Given the description of an element on the screen output the (x, y) to click on. 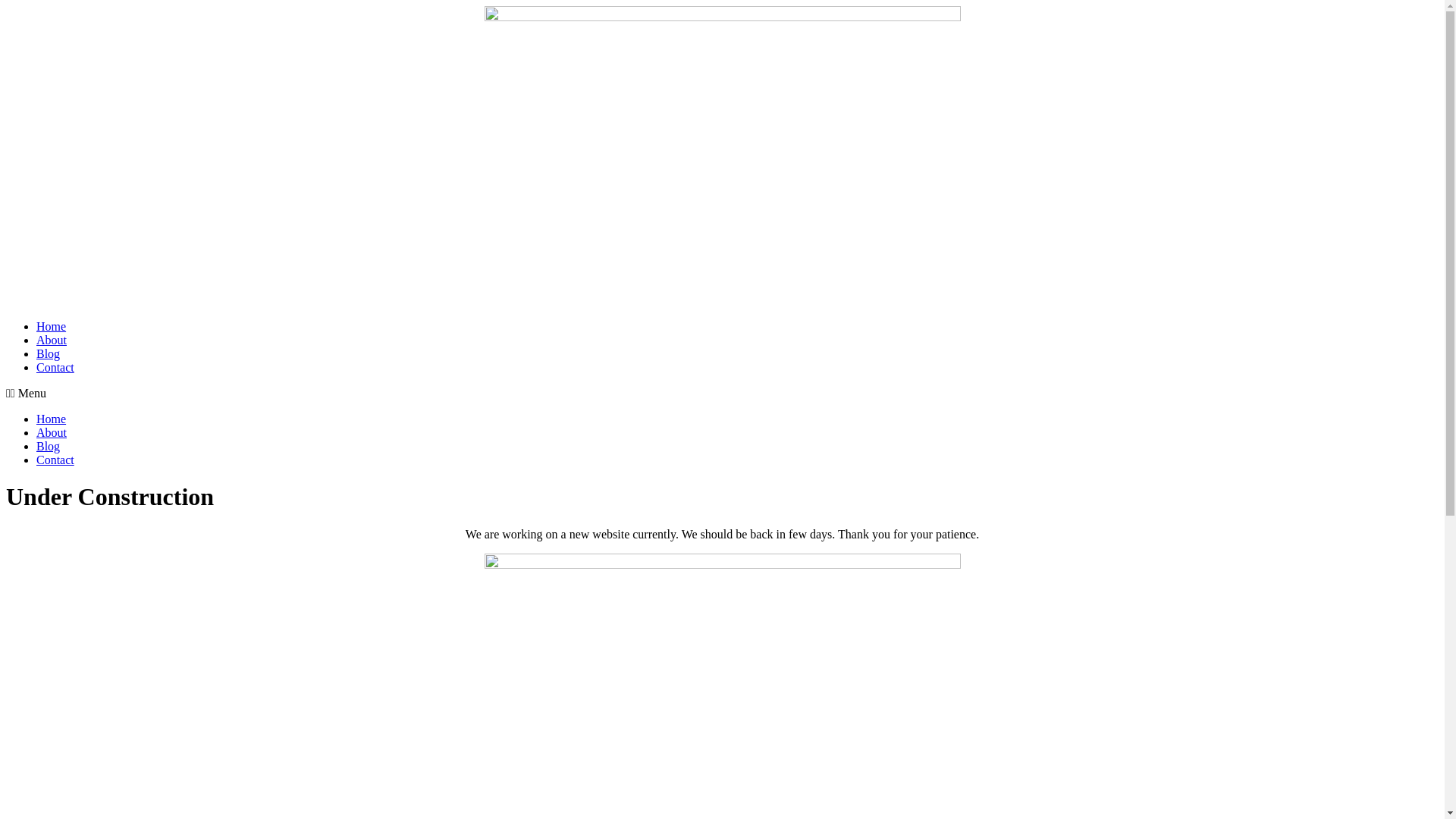
Blog Element type: text (47, 445)
Contact Element type: text (55, 459)
About Element type: text (51, 339)
Home Element type: text (50, 326)
Contact Element type: text (55, 366)
About Element type: text (51, 432)
Home Element type: text (50, 418)
Blog Element type: text (47, 353)
